Given the description of an element on the screen output the (x, y) to click on. 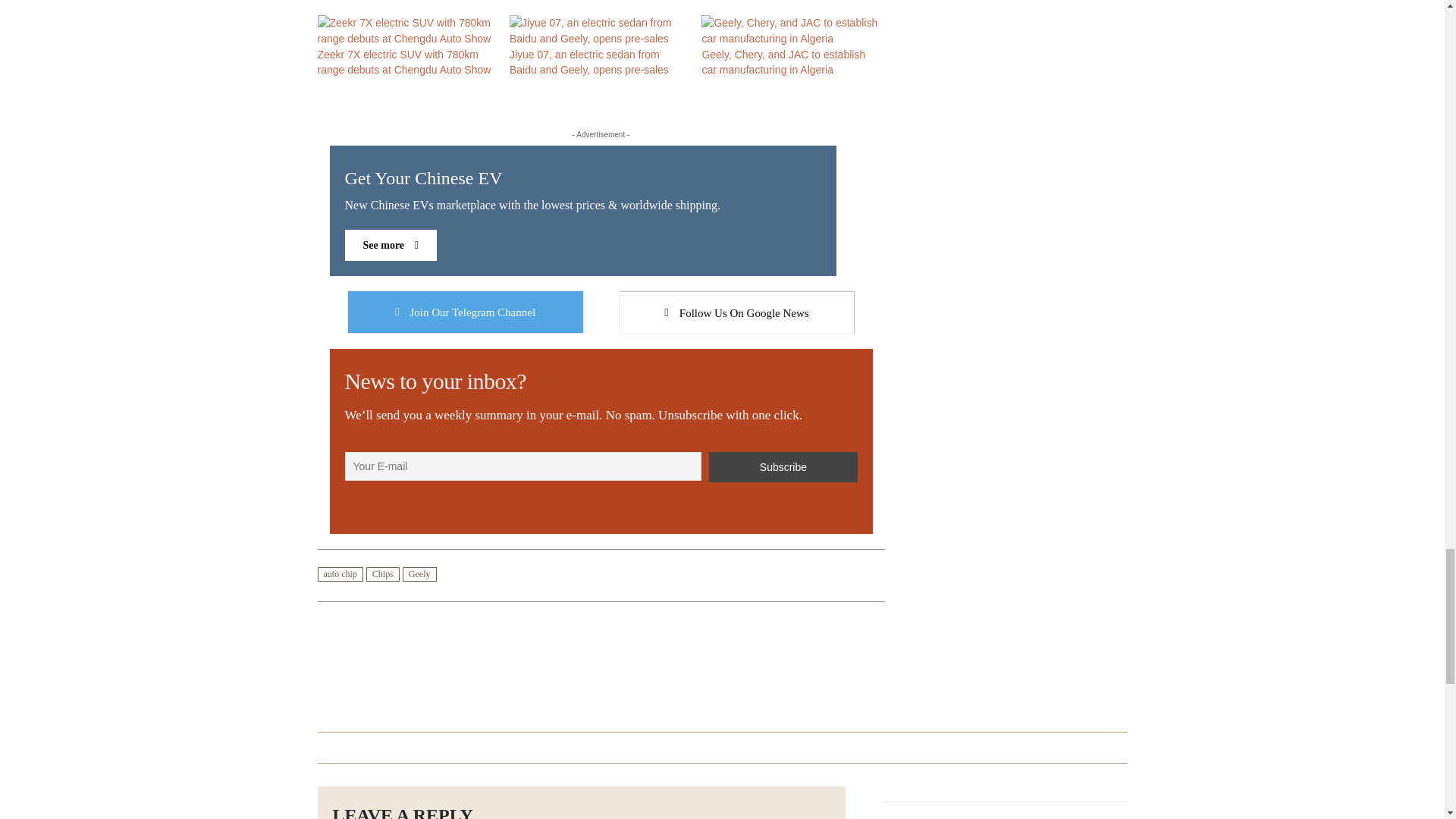
Subscribe (783, 467)
